Given the description of an element on the screen output the (x, y) to click on. 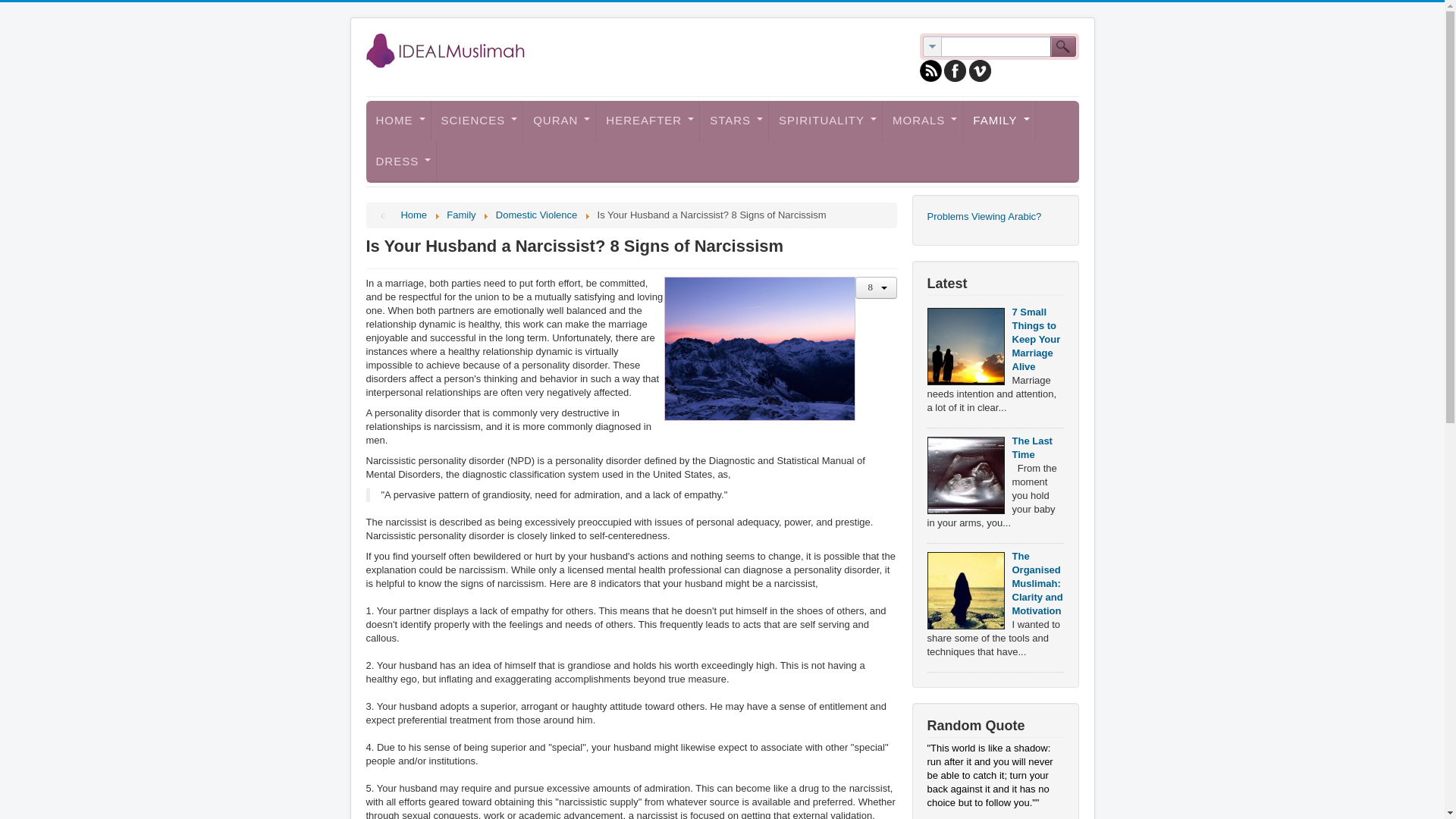
HOME (397, 120)
QURAN (558, 120)
The Last Time (965, 475)
SPIRITUALITY (825, 120)
SCIENCES (476, 120)
The Organised Muslimah: Clarity and Motivation (965, 590)
HEREAFTER (647, 120)
STARS (734, 120)
7 Small Things to Keep Your Marriage Alive  (965, 345)
